Given the description of an element on the screen output the (x, y) to click on. 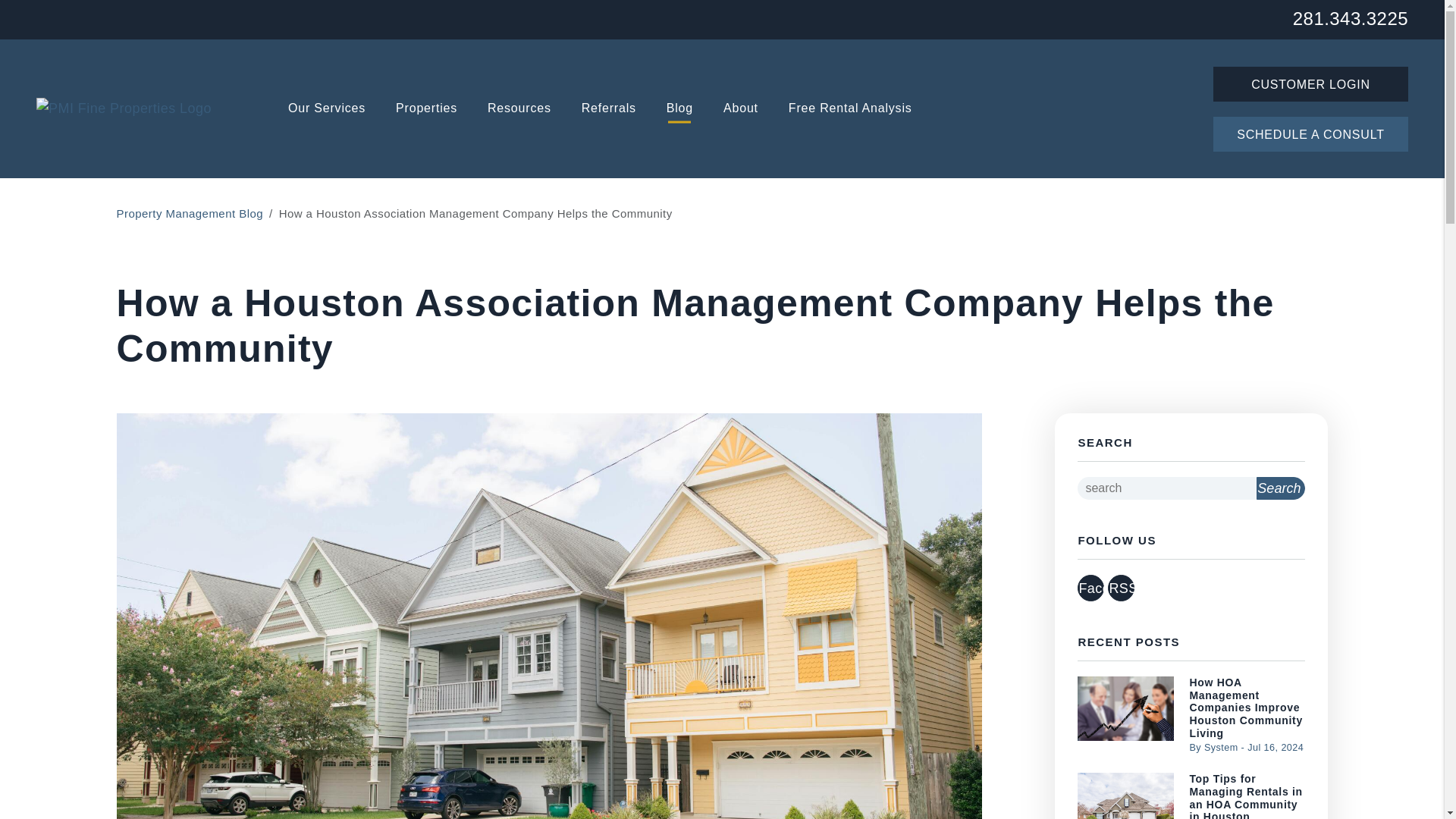
SCHEDULE A CONSULT (1309, 134)
Our Services (326, 108)
Resources (519, 108)
CUSTOMER LOGIN (1309, 83)
Properties (426, 108)
281.343.3225 (1349, 17)
